Given the description of an element on the screen output the (x, y) to click on. 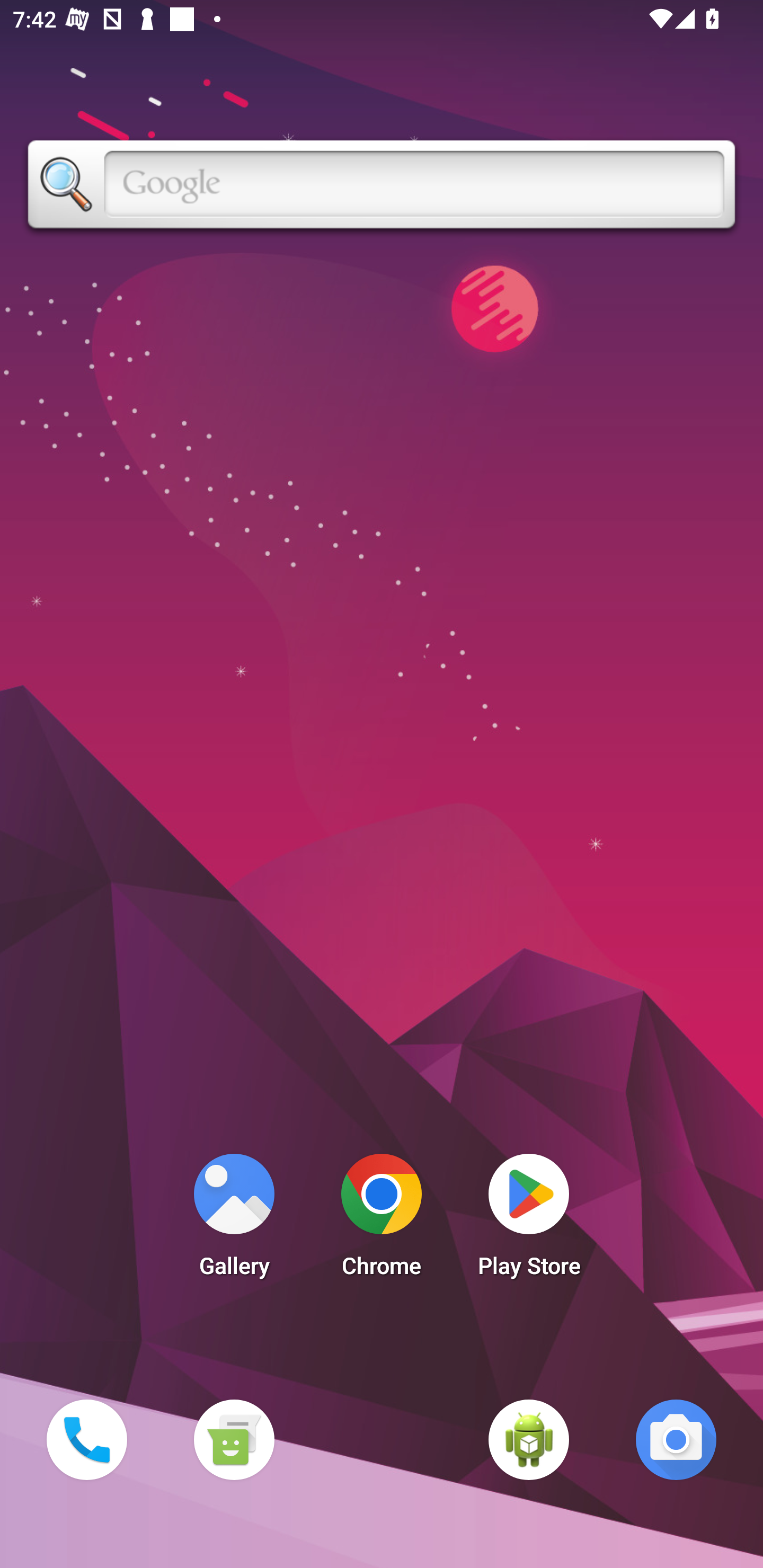
Gallery (233, 1220)
Chrome (381, 1220)
Play Store (528, 1220)
Phone (86, 1439)
Messaging (233, 1439)
WebView Browser Tester (528, 1439)
Camera (676, 1439)
